Given the description of an element on the screen output the (x, y) to click on. 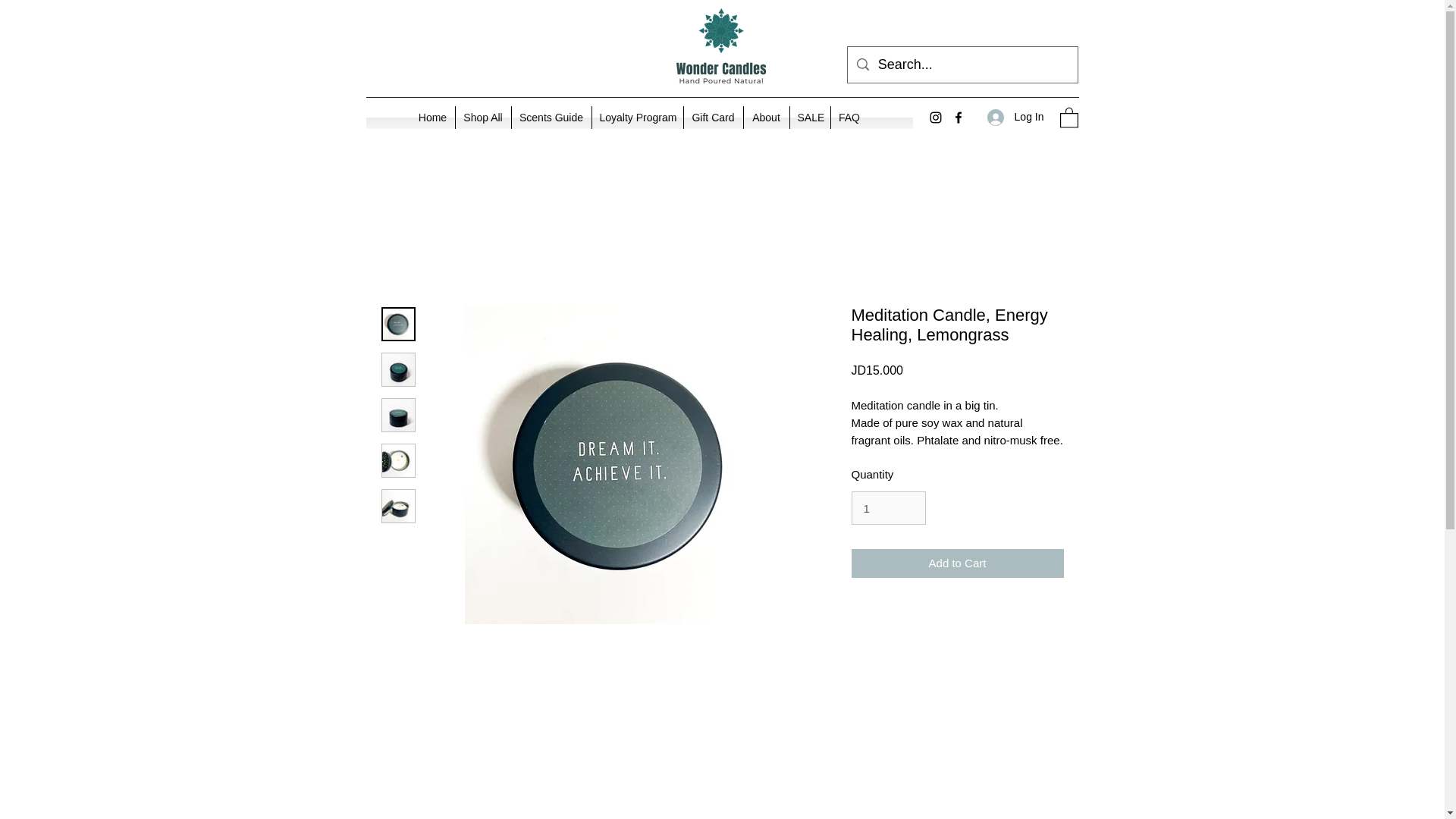
Shop All (482, 117)
About (765, 117)
Log In (1015, 117)
Add to Cart (956, 563)
Scents Guide (551, 117)
Home (432, 117)
FAQ (849, 117)
SALE (809, 117)
Loyalty Program (636, 117)
1 (887, 507)
